Given the description of an element on the screen output the (x, y) to click on. 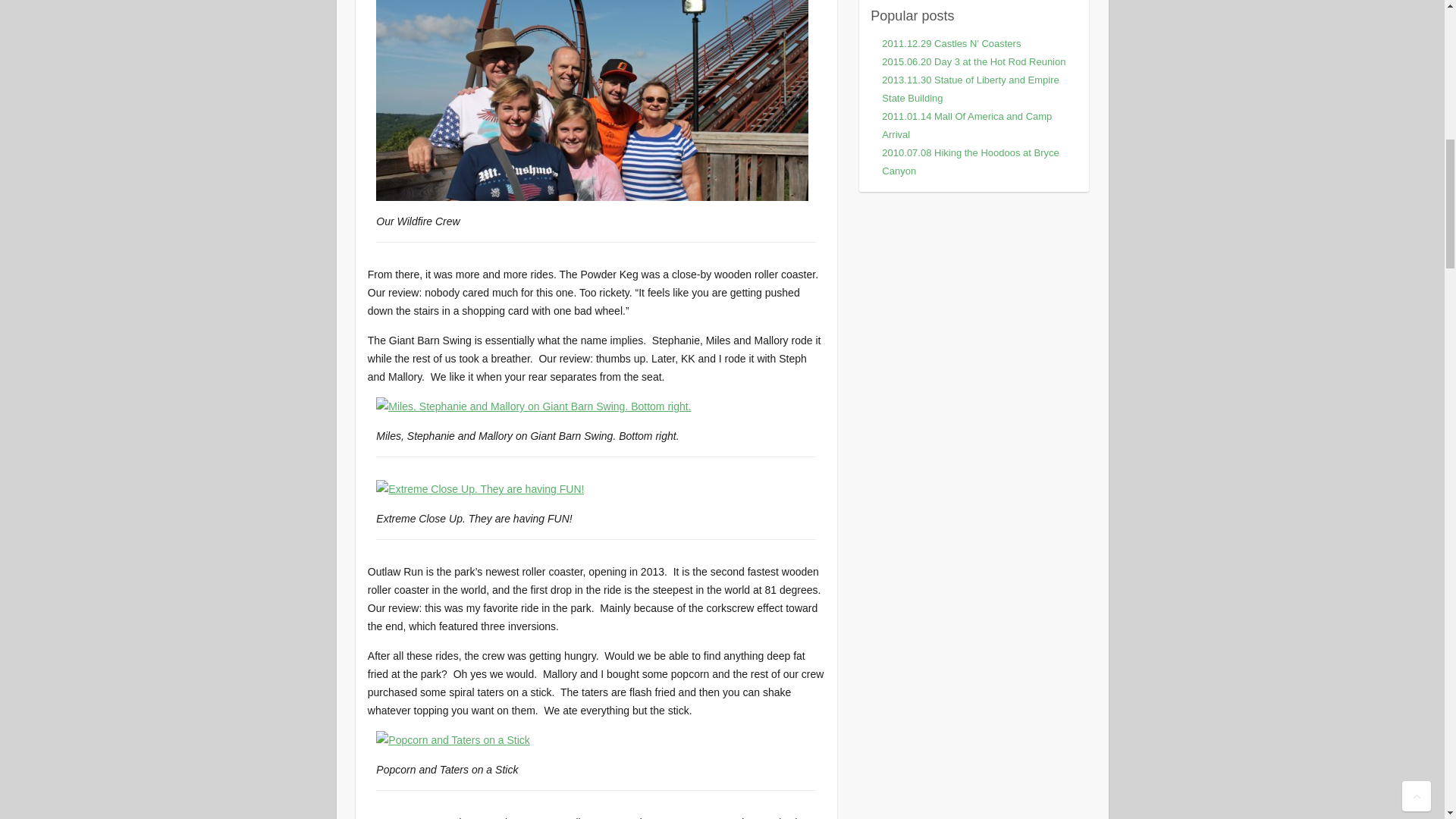
2015.06.20 Day 3 at the Hot Rod Reunion (973, 61)
2011.01.14 Mall Of America and Camp Arrival (966, 125)
2013.11.30 Statue of Liberty and Empire State Building (970, 89)
2010.07.08 Hiking the Hoodoos at Bryce Canyon (970, 161)
